Given the description of an element on the screen output the (x, y) to click on. 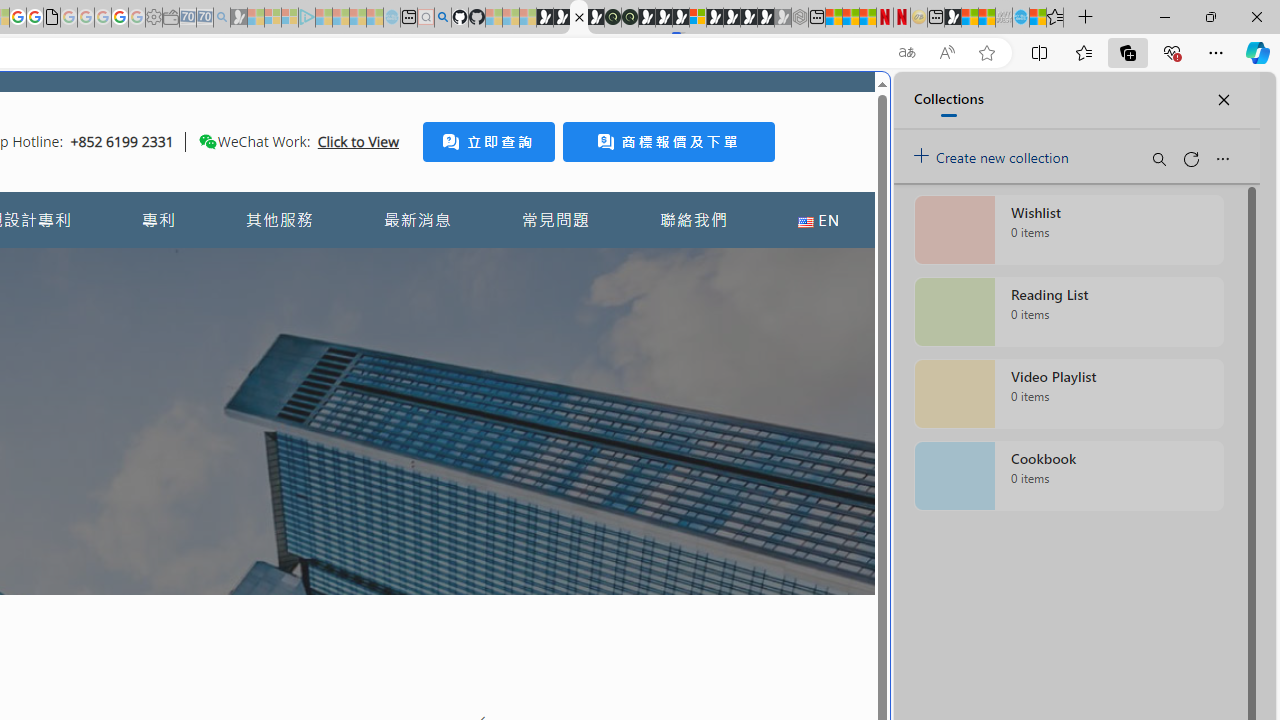
EN (818, 220)
Close split screen (844, 102)
Play Zoo Boom in your browser | Games from Microsoft Start (561, 17)
Future Focus Report 2024 (629, 17)
